Given the description of an element on the screen output the (x, y) to click on. 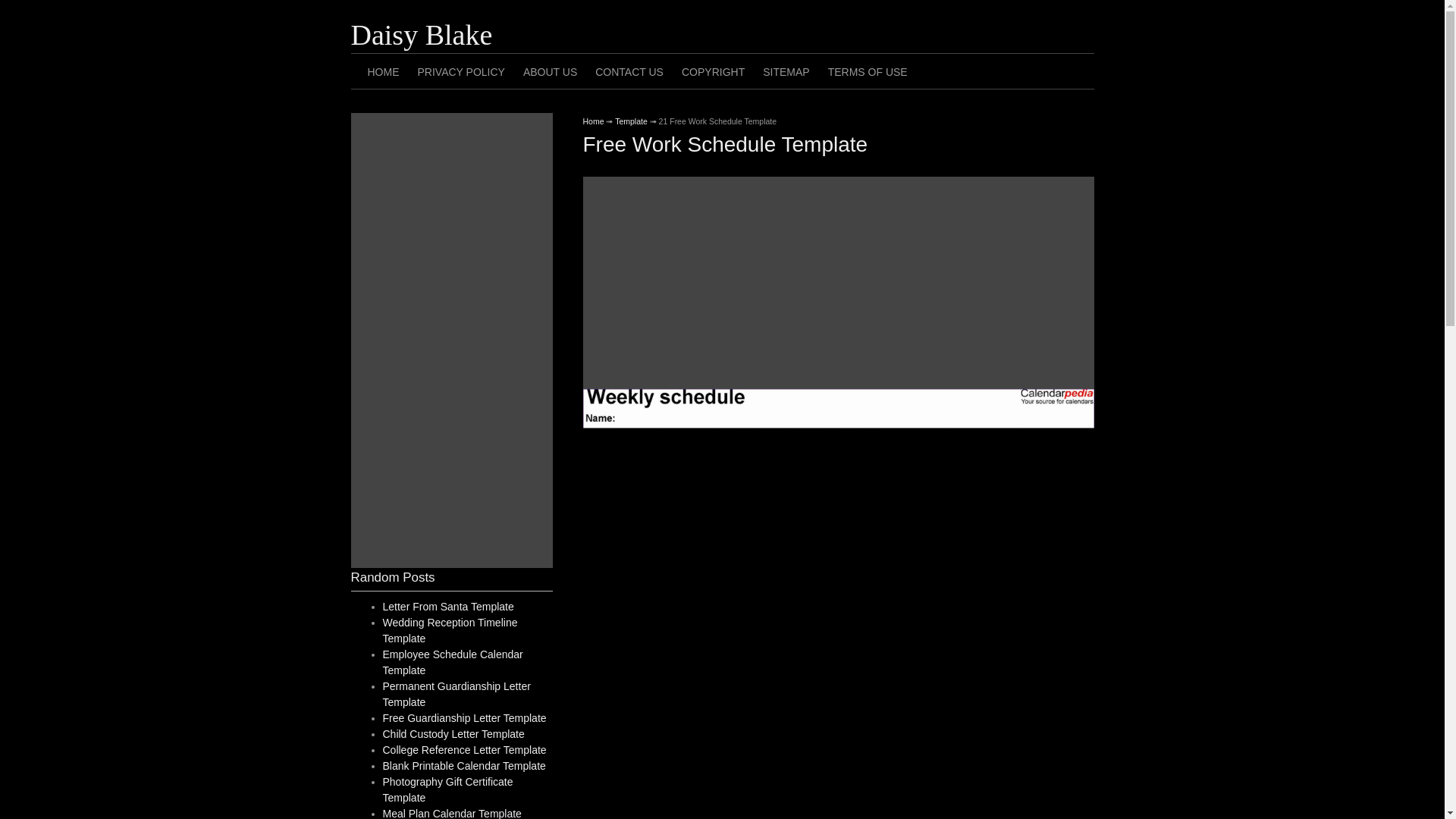
TERMS OF USE (867, 71)
Advertisement (837, 282)
Home (593, 121)
PRIVACY POLICY (460, 71)
CONTACT US (629, 71)
SITEMAP (786, 71)
ABOUT US (549, 71)
COPYRIGHT (713, 71)
Template (630, 121)
Daisy Blake (421, 34)
HOME (382, 71)
